Given the description of an element on the screen output the (x, y) to click on. 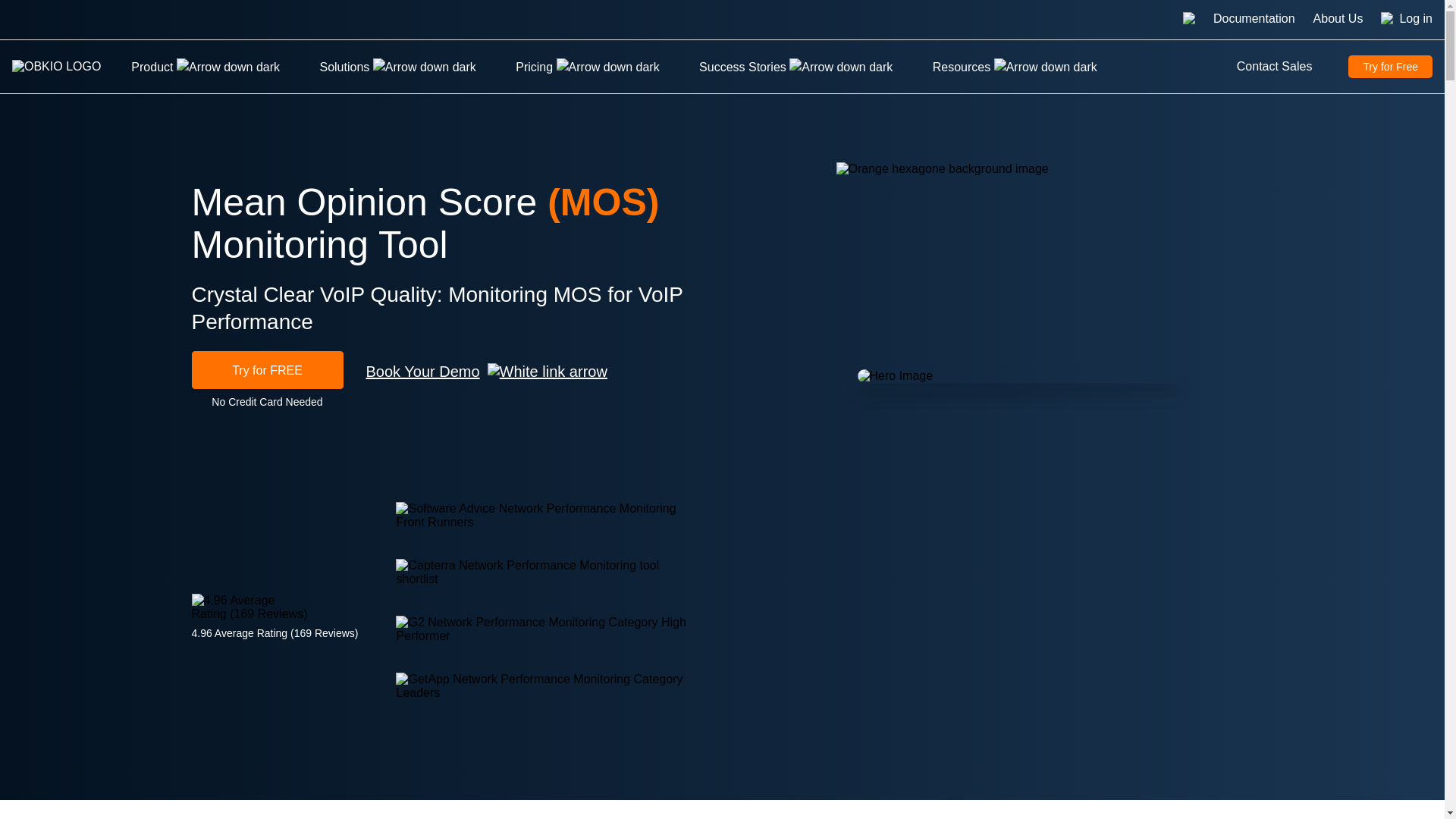
Solutions (397, 67)
Resources (1014, 67)
Documentation (1253, 19)
Success Stories (795, 67)
Product (205, 67)
About Us (1337, 19)
Pricing (587, 67)
Log in (1415, 19)
